Given the description of an element on the screen output the (x, y) to click on. 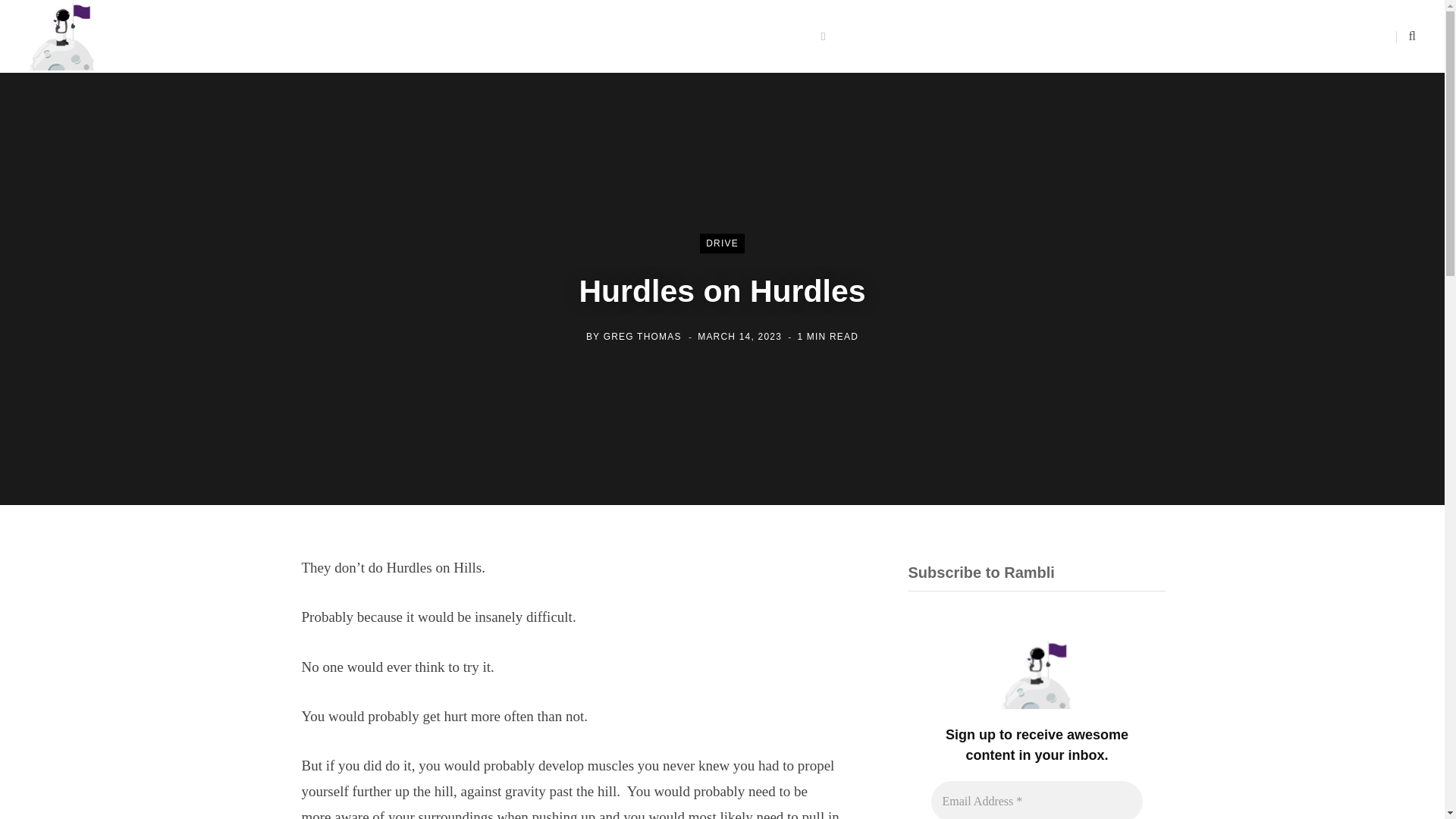
Posts by Greg Thomas (642, 337)
Contact (872, 36)
LinkedIn (1364, 36)
Home (481, 36)
About (541, 36)
RSS (1349, 36)
Developer (611, 36)
Bigger Thoughts (777, 36)
Books (682, 36)
DRIVE (722, 243)
Search (1405, 36)
Newsletter (950, 36)
GREG THOMAS (642, 337)
Rambli (62, 36)
